Given the description of an element on the screen output the (x, y) to click on. 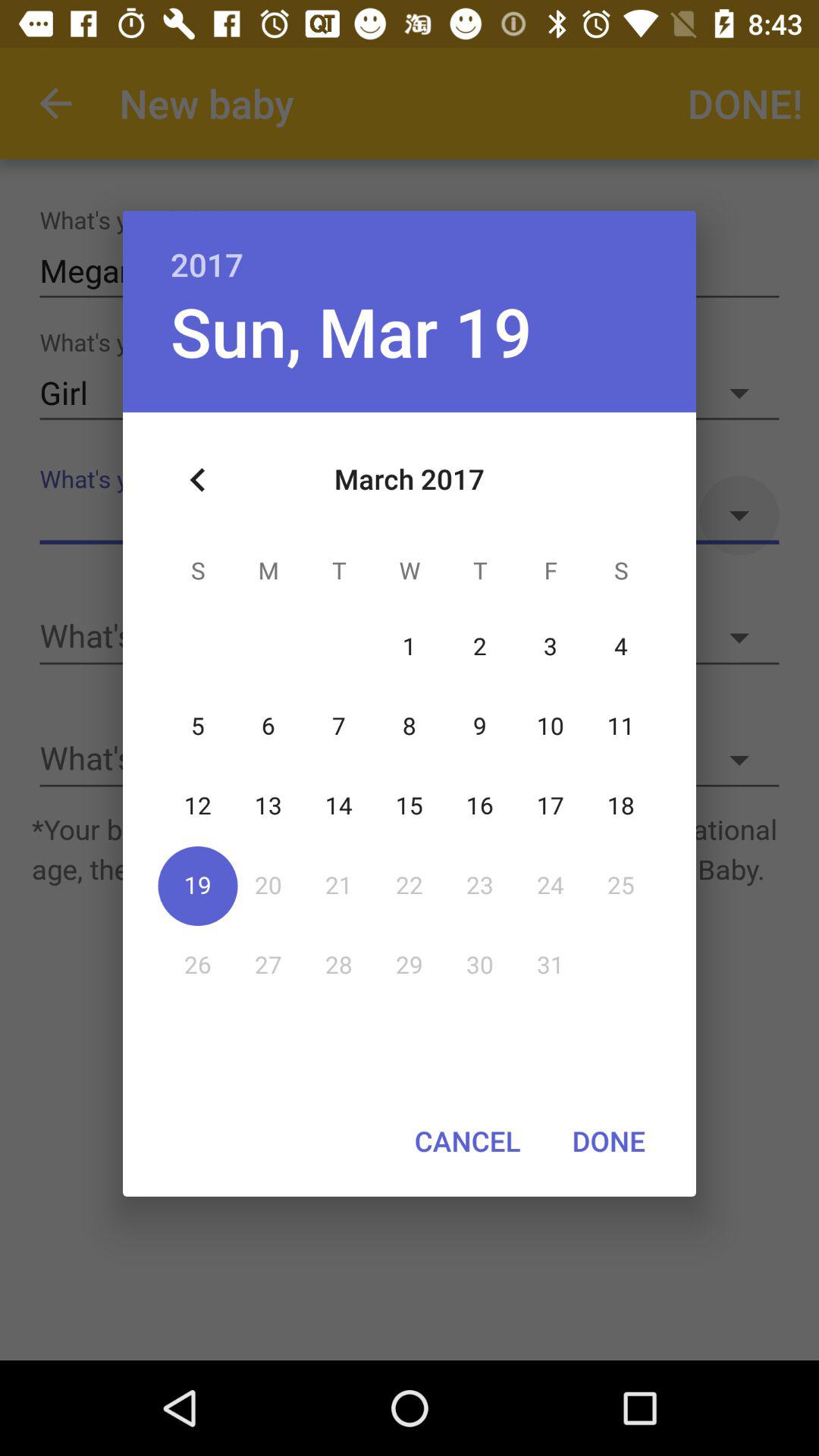
launch done (608, 1140)
